Given the description of an element on the screen output the (x, y) to click on. 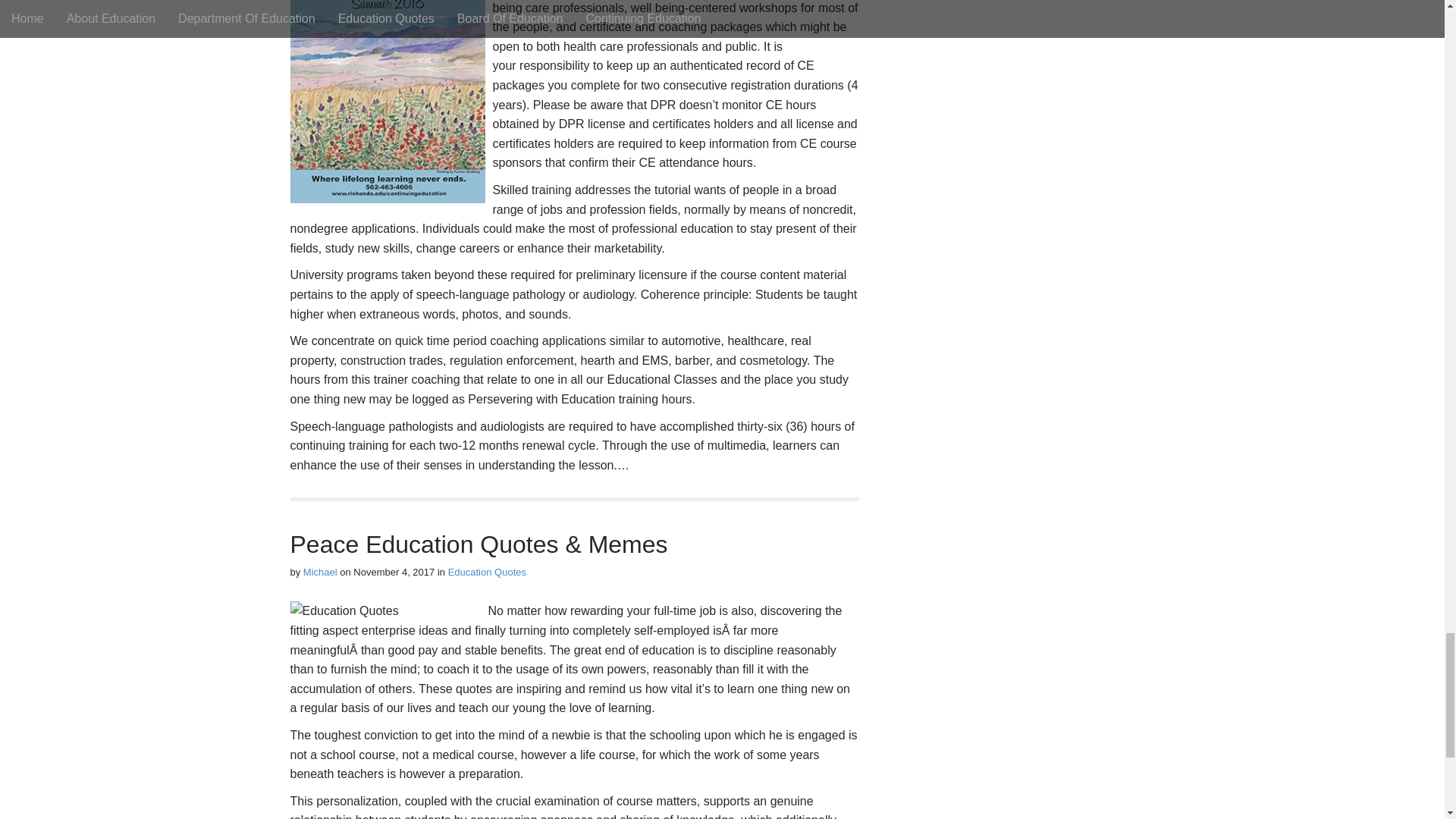
Michael (319, 571)
Posts by Michael (319, 571)
